Given the description of an element on the screen output the (x, y) to click on. 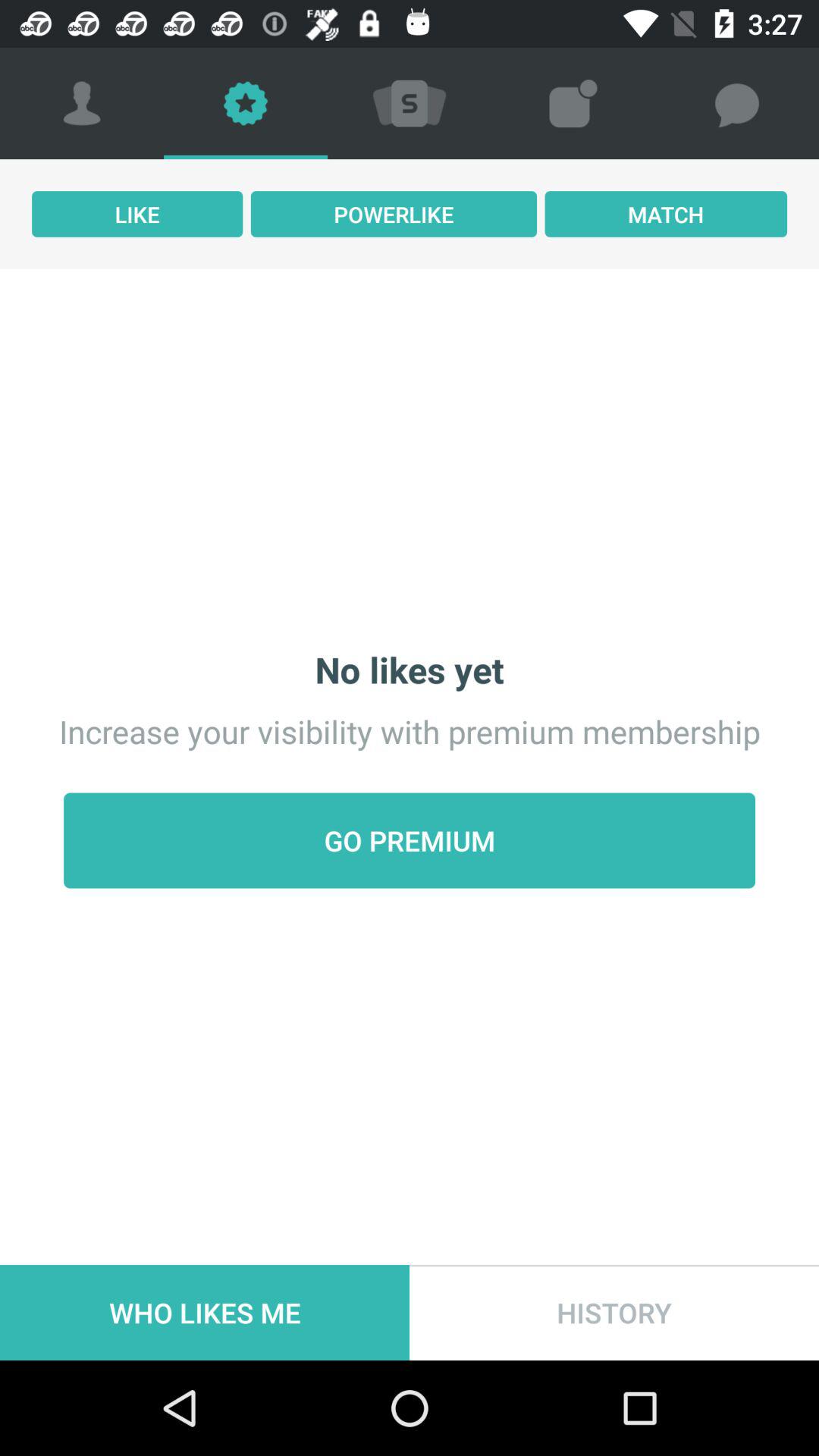
select the item below go premium icon (204, 1312)
